Given the description of an element on the screen output the (x, y) to click on. 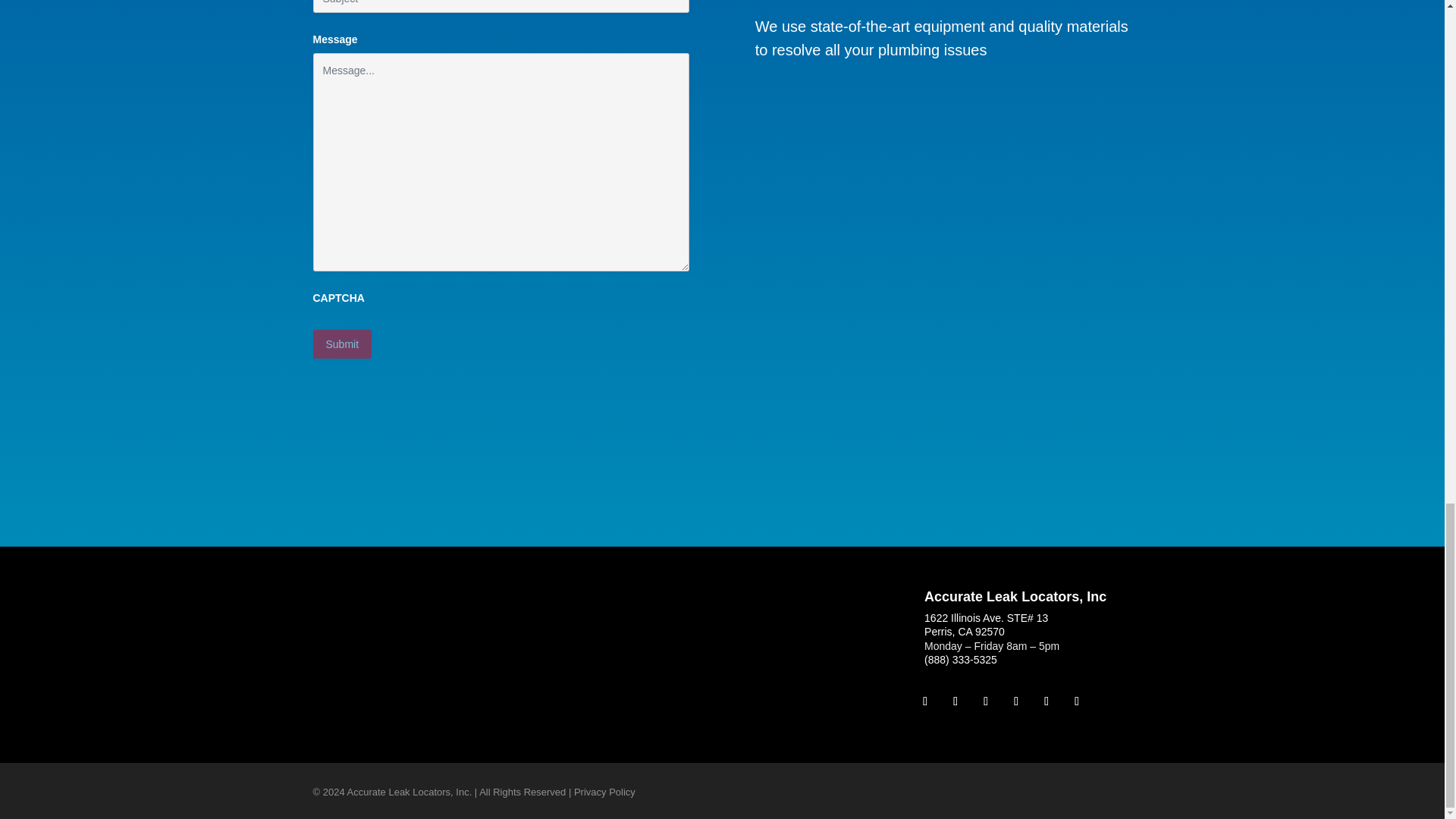
Follow on Youtube (985, 701)
Perris, CA 92570 (964, 631)
Submit (342, 344)
Follow on X (1076, 701)
Follow on Instagram (955, 701)
Follow on LinkedIn (1045, 701)
Follow on TikTok (1015, 701)
Follow on Facebook (924, 701)
Submit (342, 344)
